Given the description of an element on the screen output the (x, y) to click on. 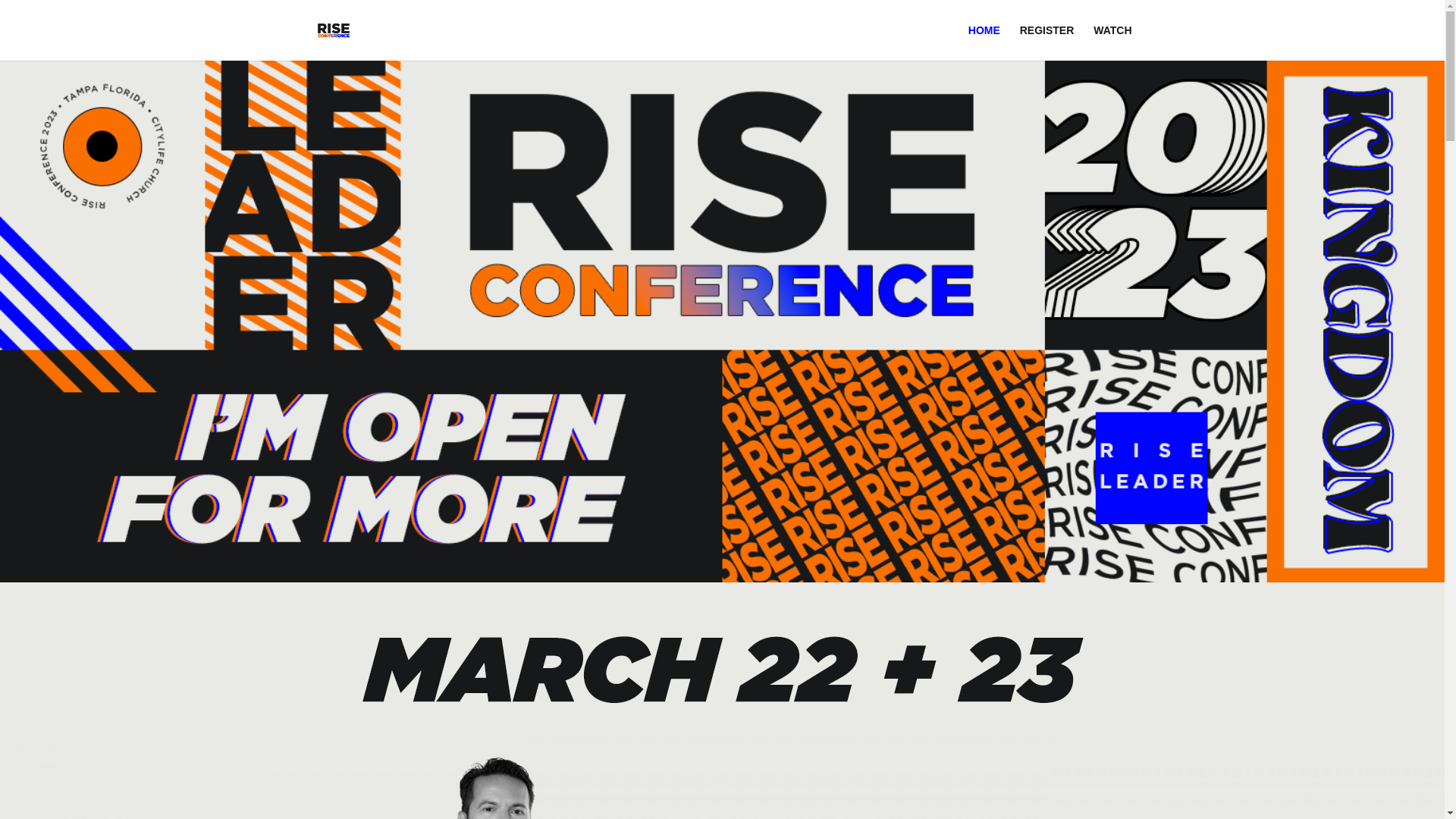
RISE-Design-FINAL-2023 Element type: hover (722, 322)
HOME Element type: text (984, 42)
RISE-2023-Dates-BLACK-BANNER Element type: hover (721, 669)
WATCH Element type: text (1112, 42)
REGISTER Element type: text (1046, 42)
